Given the description of an element on the screen output the (x, y) to click on. 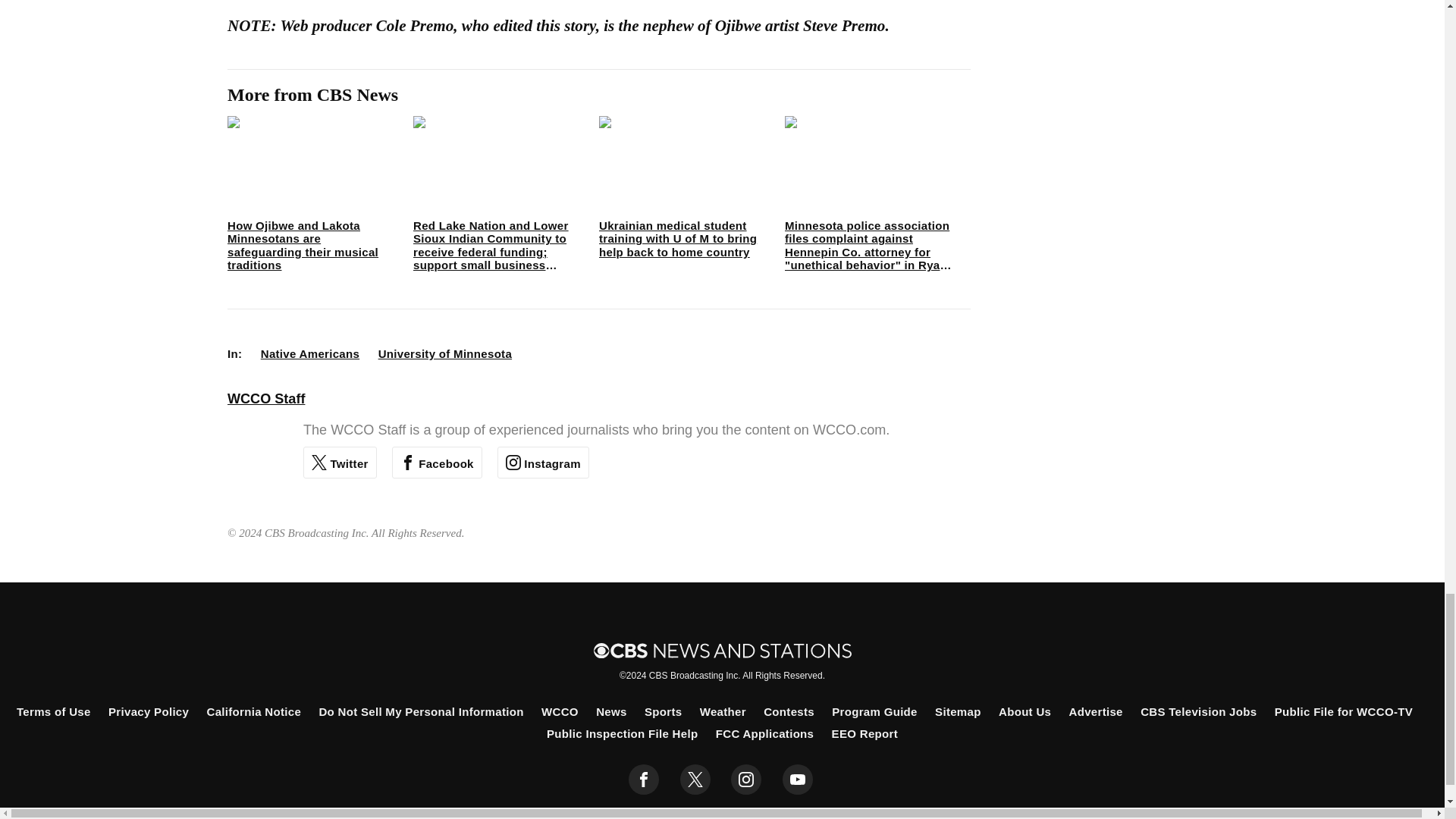
twitter (694, 779)
facebook (643, 779)
instagram (745, 779)
youtube (797, 779)
